Given the description of an element on the screen output the (x, y) to click on. 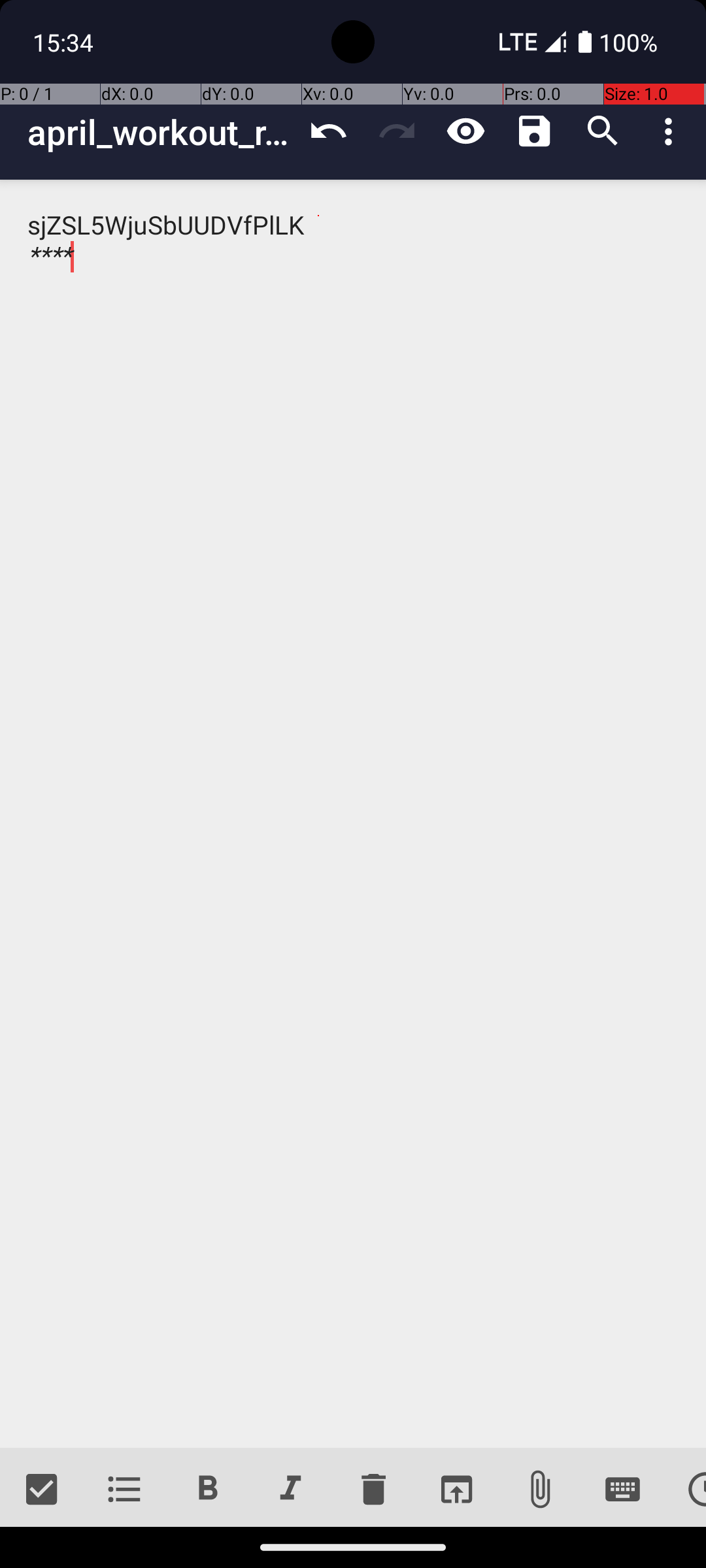
april_workout_routine_final Element type: android.widget.TextView (160, 131)
sjZSL5WjuSbUUDVfPlLK
**** Element type: android.widget.EditText (353, 813)
